Given the description of an element on the screen output the (x, y) to click on. 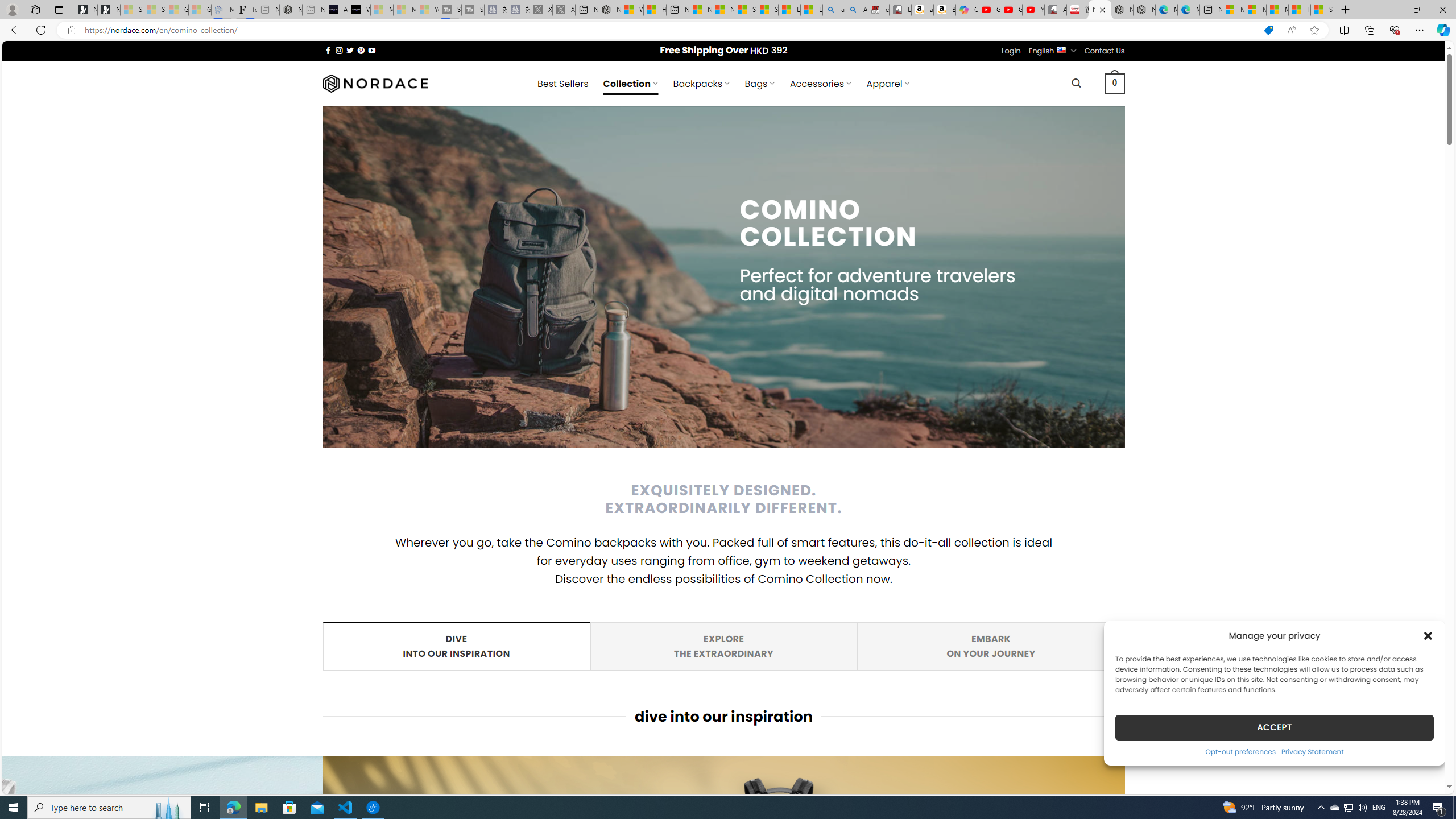
DIVE INTO OUR INSPIRATION (455, 645)
Microsoft Start - Sleeping (455, 645)
Contact Us (404, 9)
Follow on Instagram (1104, 50)
Copilot (338, 49)
